Given the description of an element on the screen output the (x, y) to click on. 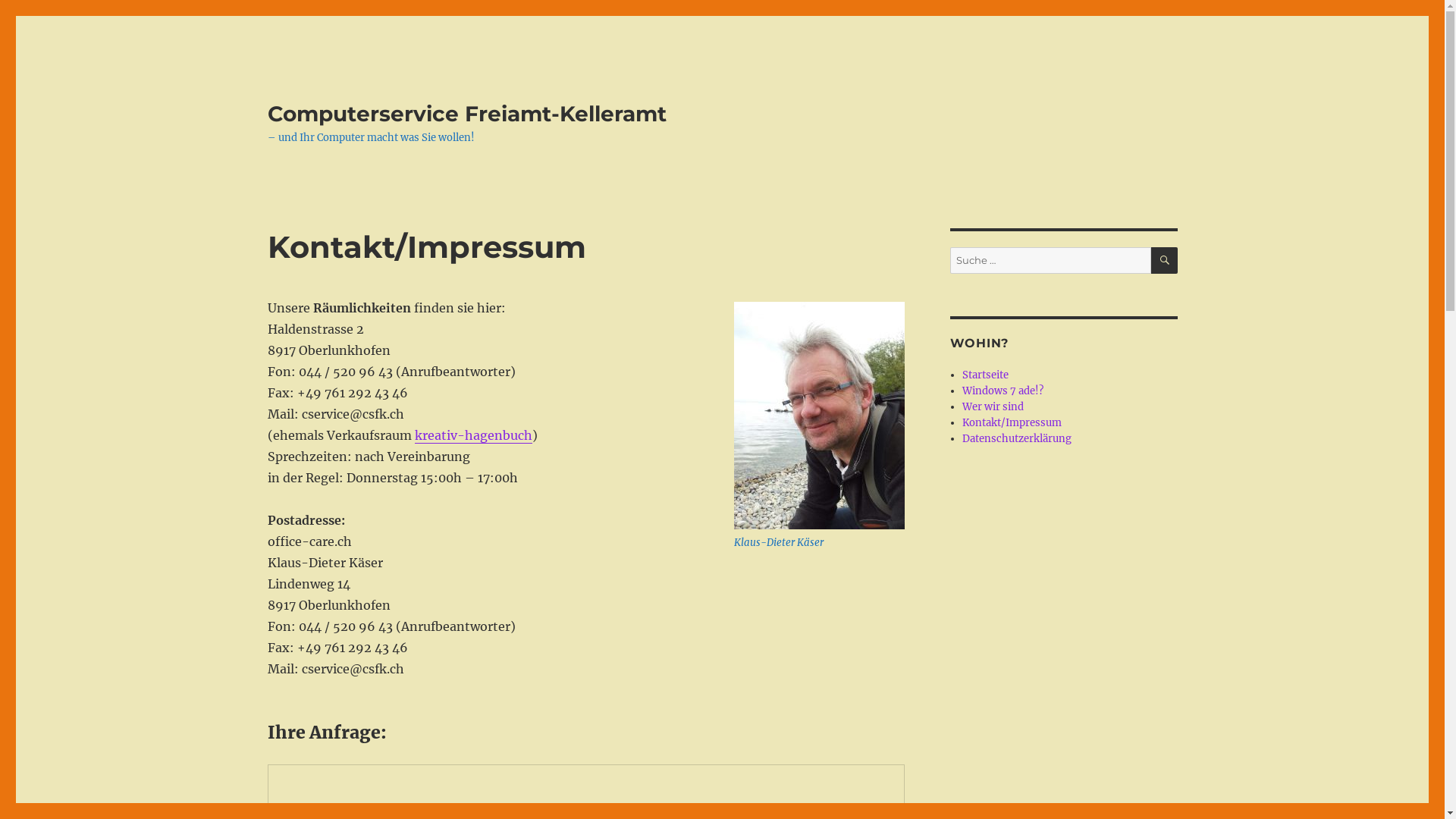
Computerservice Freiamt-Kelleramt Element type: text (465, 113)
Wer wir sind Element type: text (992, 406)
Kontakt/Impressum Element type: text (1011, 422)
SUCHE Element type: text (1164, 260)
Windows 7 ade!? Element type: text (1002, 390)
kreativ-hagenbuch Element type: text (472, 434)
Startseite Element type: text (985, 374)
